Given the description of an element on the screen output the (x, y) to click on. 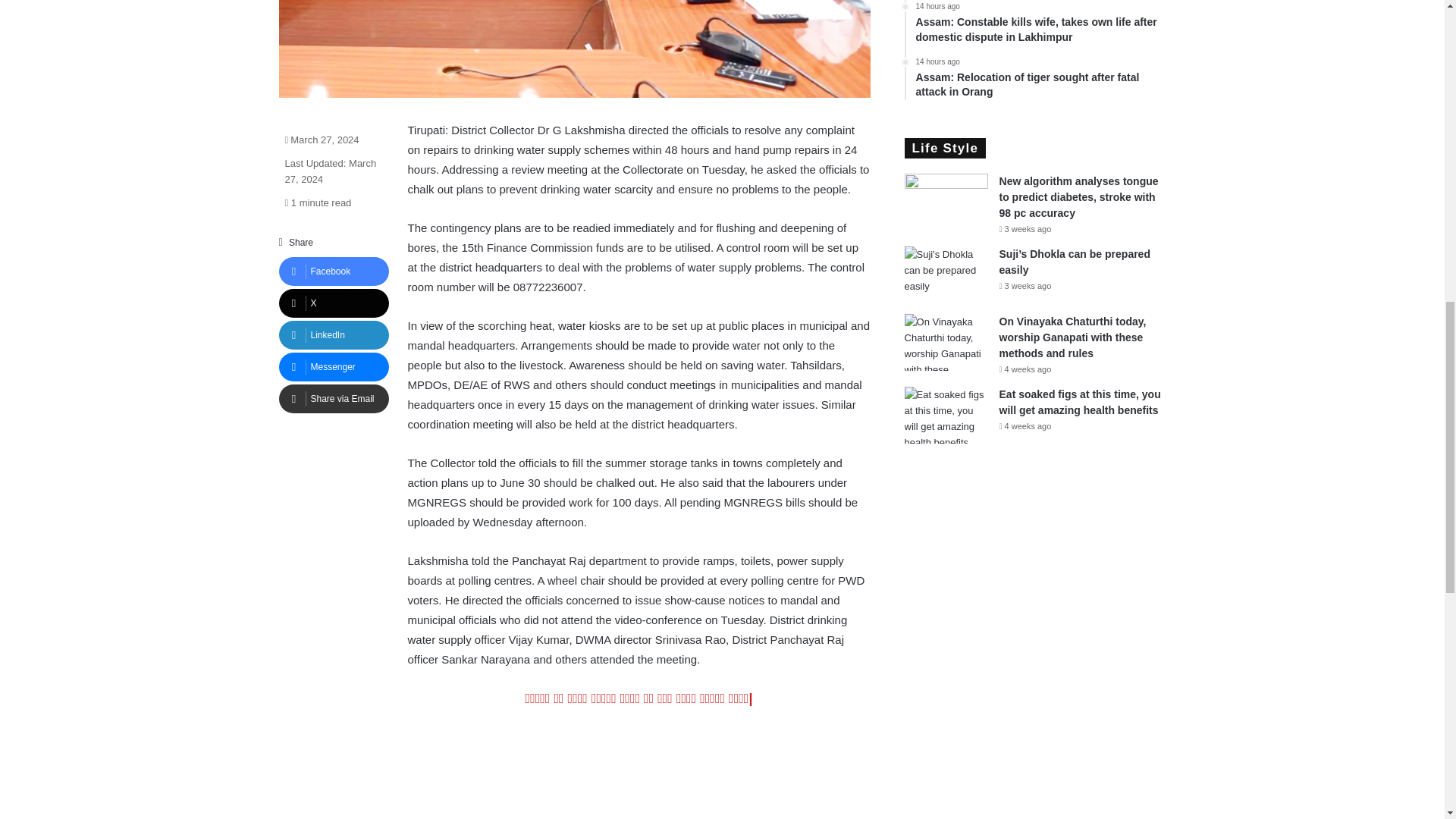
LinkedIn (333, 335)
Messenger (333, 366)
Facebook (333, 271)
X (333, 303)
